Given the description of an element on the screen output the (x, y) to click on. 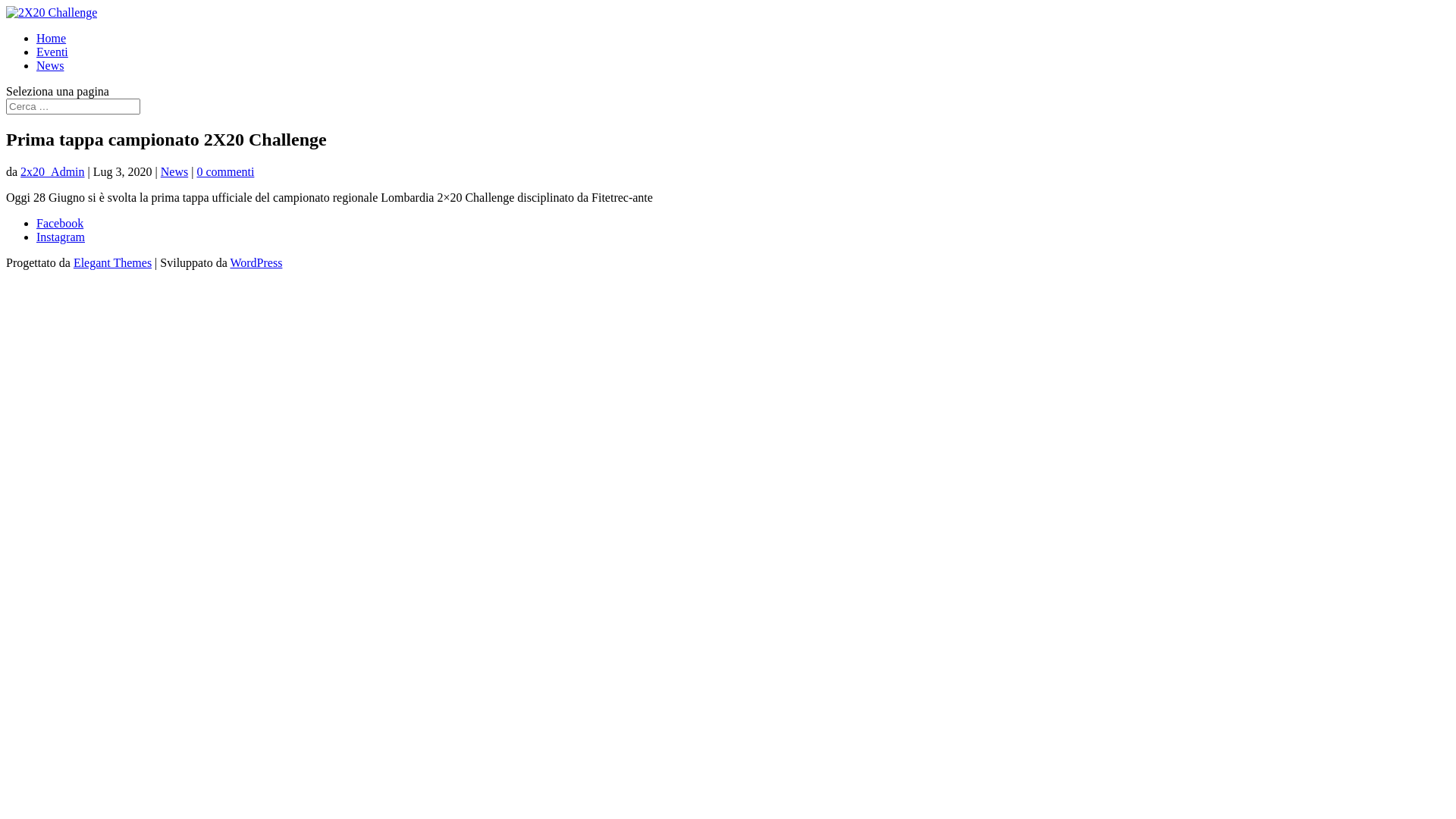
Instagram Element type: text (60, 236)
WordPress Element type: text (255, 262)
News Element type: text (174, 171)
Eventi Element type: text (52, 51)
Elegant Themes Element type: text (112, 262)
Facebook Element type: text (59, 222)
0 commenti Element type: text (225, 171)
Cerca: Element type: hover (73, 106)
Home Element type: text (50, 37)
2x20_Admin Element type: text (52, 171)
News Element type: text (49, 65)
